Given the description of an element on the screen output the (x, y) to click on. 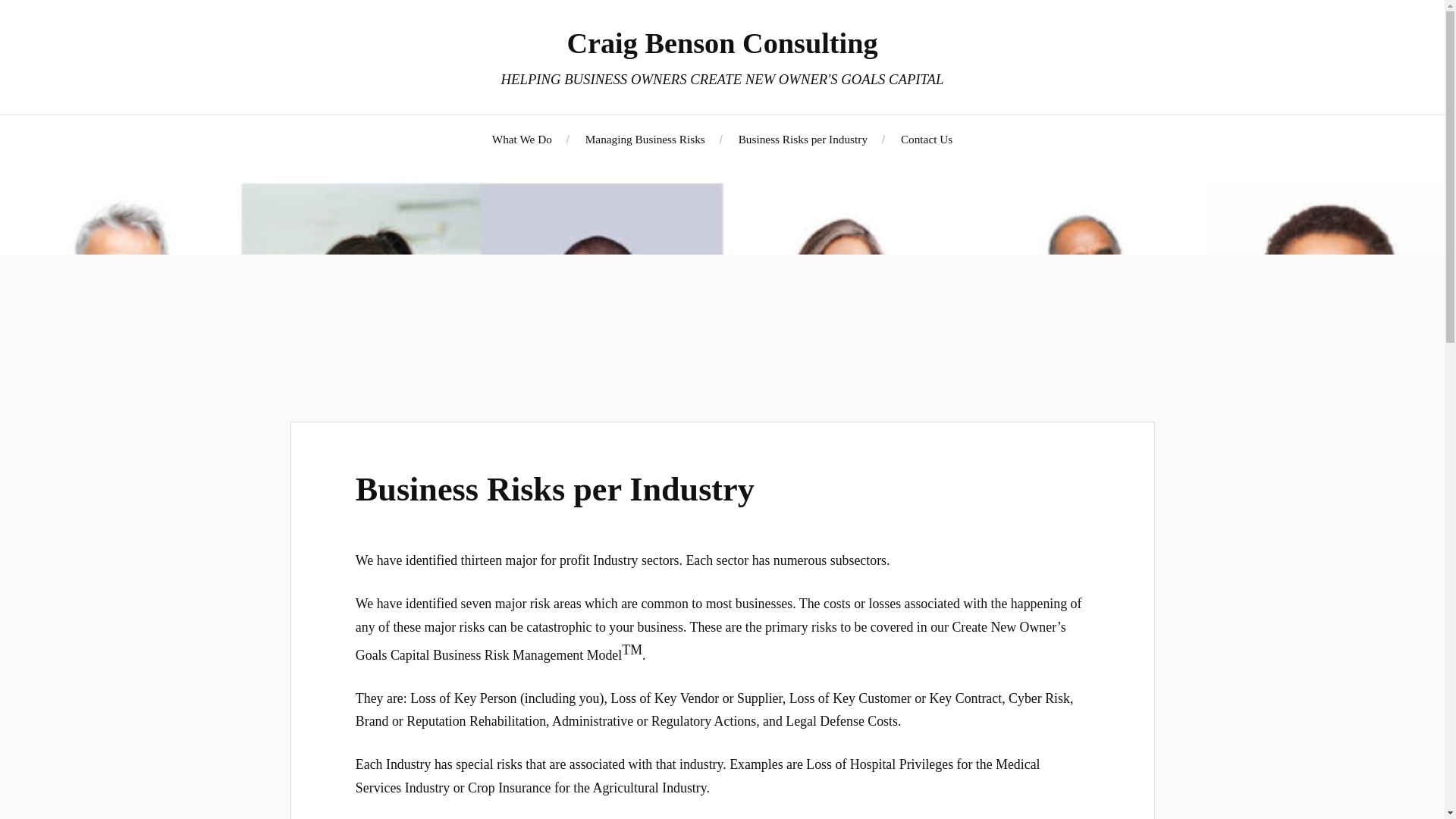
Business Risks per Industry (802, 138)
Contact Us (926, 138)
What We Do (521, 138)
Managing Business Risks (644, 138)
Business Risks per Industry (554, 488)
Craig Benson Consulting (721, 42)
